Given the description of an element on the screen output the (x, y) to click on. 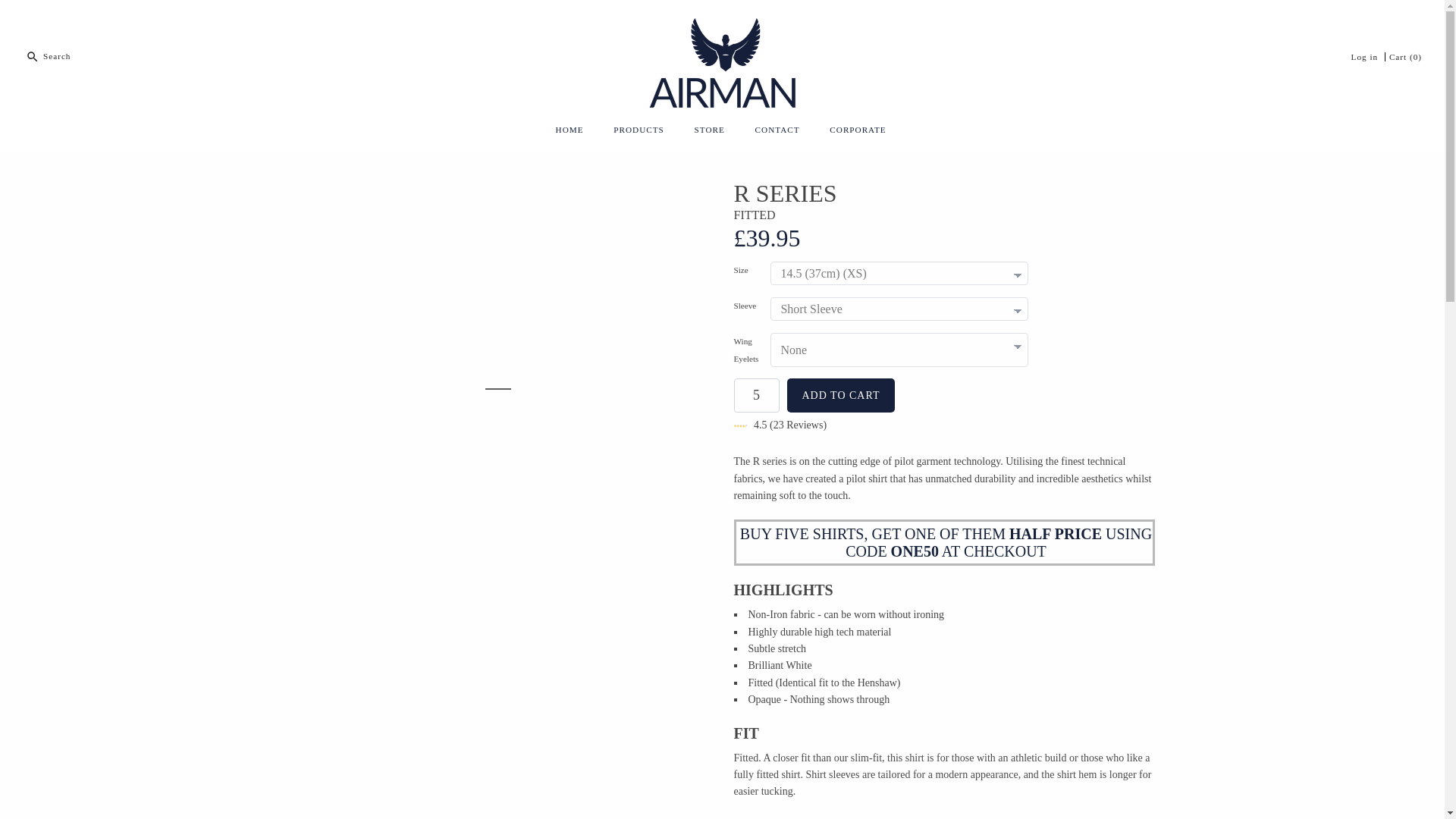
yt-video (499, 716)
Log in (1364, 56)
ADD TO CART (841, 395)
HOME (568, 132)
CORPORATE (857, 132)
PRODUCTS (638, 132)
Airman Pilot Shirts (721, 22)
5 (755, 395)
CONTACT (777, 132)
STORE (709, 132)
